Given the description of an element on the screen output the (x, y) to click on. 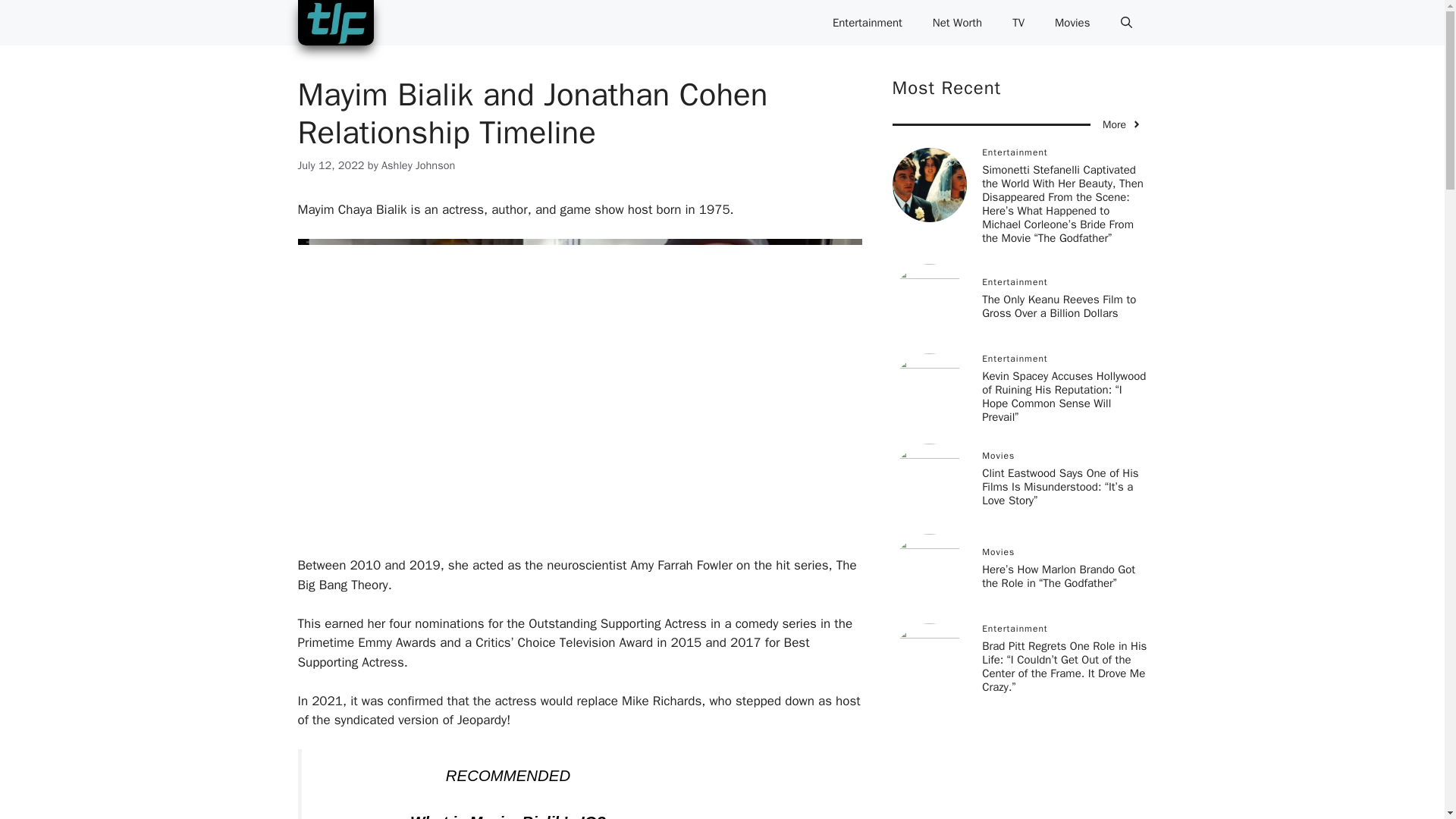
Ashley Johnson (417, 164)
Entertainment (866, 22)
TV (1018, 22)
View all posts by Ashley Johnson (417, 164)
The Only Keanu Reeves Film to Gross Over a Billion Dollars (1058, 306)
More (1121, 124)
Movies (1072, 22)
Net Worth (957, 22)
